Given the description of an element on the screen output the (x, y) to click on. 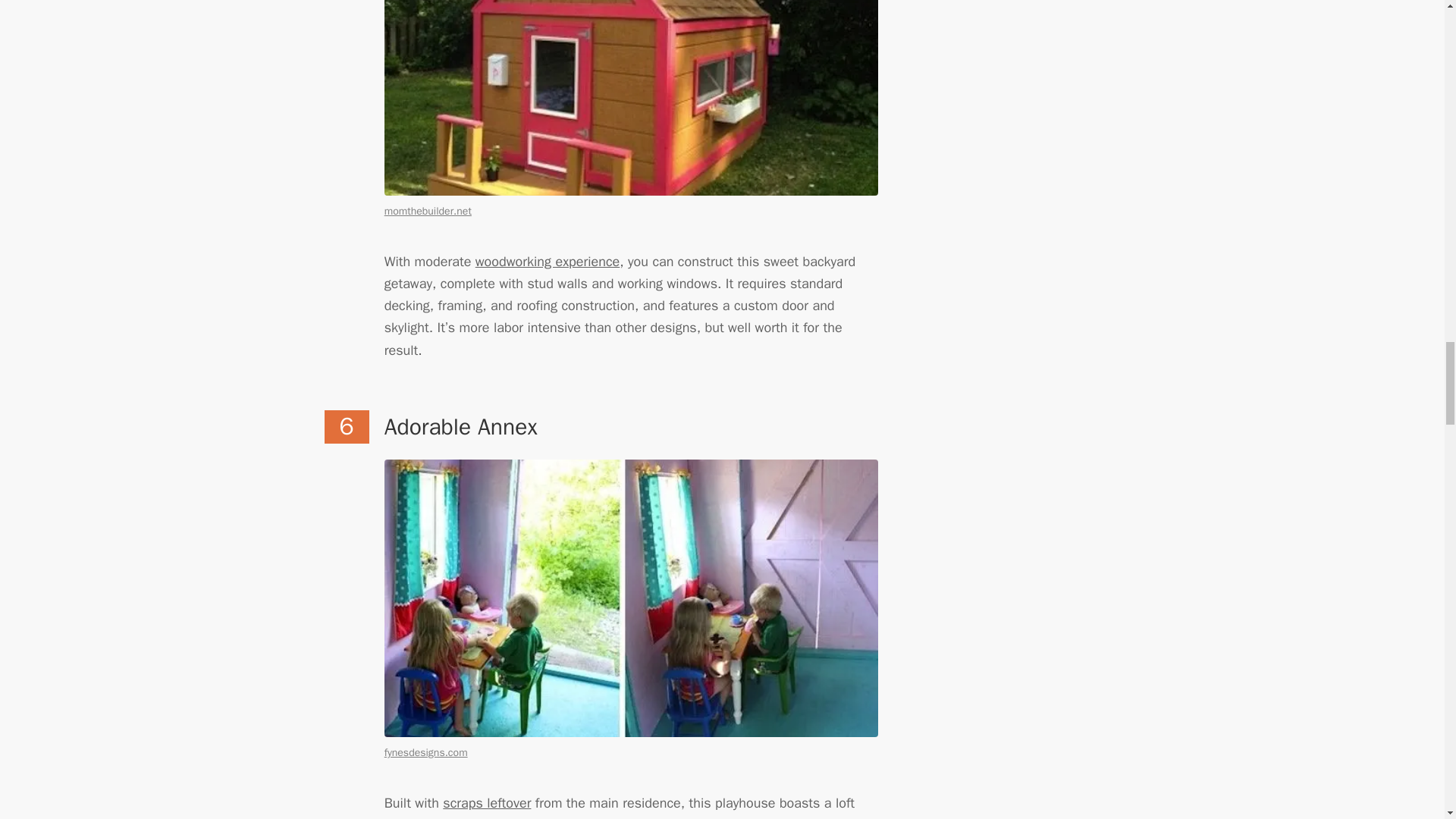
15 Shipping Pallet Projects for the DIY Home (486, 802)
15 Surprisingly Simple Woodworking Projects for Beginners (548, 261)
